Given the description of an element on the screen output the (x, y) to click on. 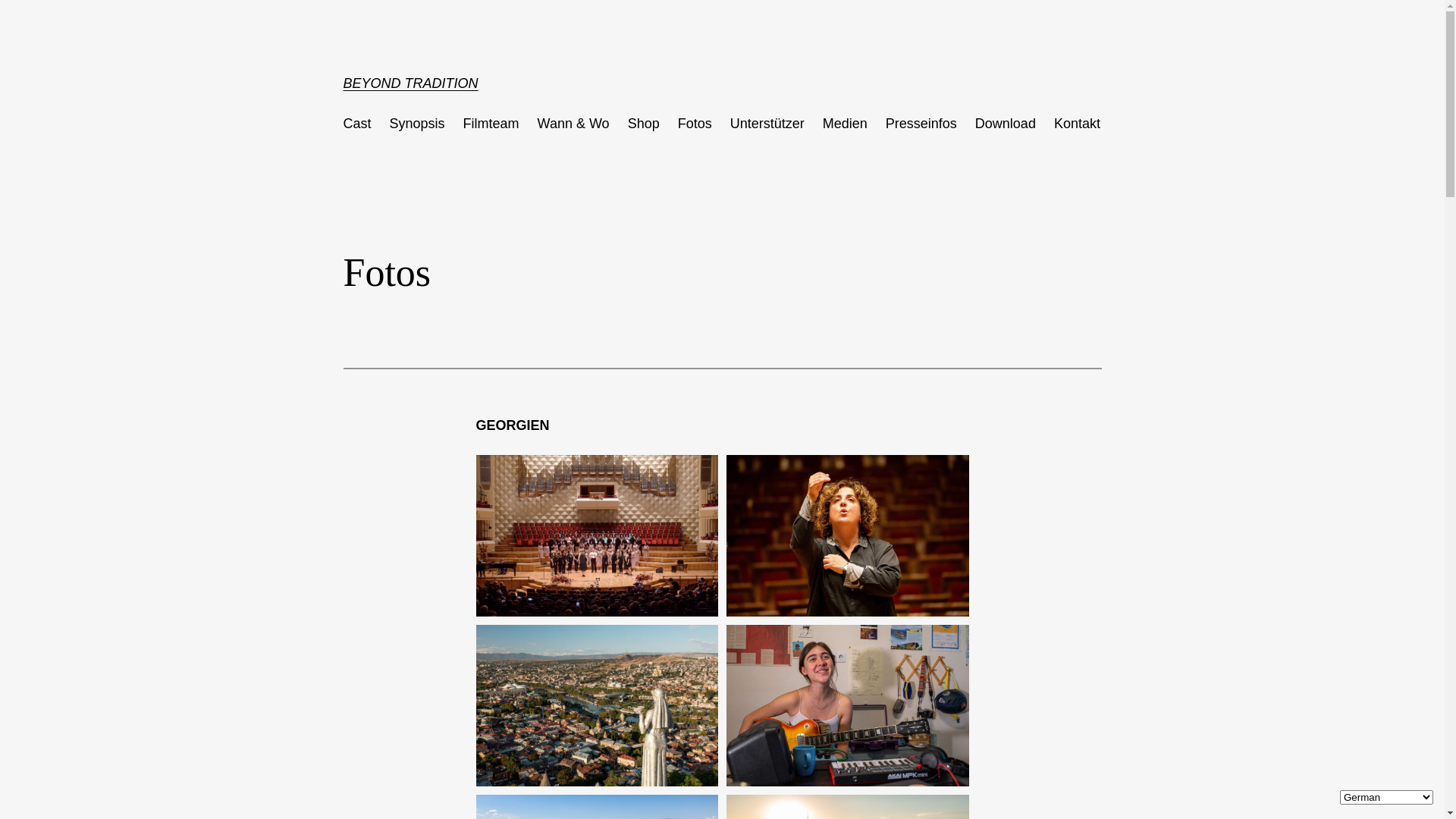
Presseinfos Element type: text (921, 123)
Wann & Wo Element type: text (573, 123)
Filmteam Element type: text (491, 123)
Medien Element type: text (844, 123)
Fotos Element type: text (694, 123)
Download Element type: text (1005, 123)
Synopsis Element type: text (417, 123)
Cast Element type: text (356, 123)
BEYOND TRADITION Element type: text (409, 83)
Shop Element type: text (643, 123)
Kontakt Element type: text (1077, 123)
